Given the description of an element on the screen output the (x, y) to click on. 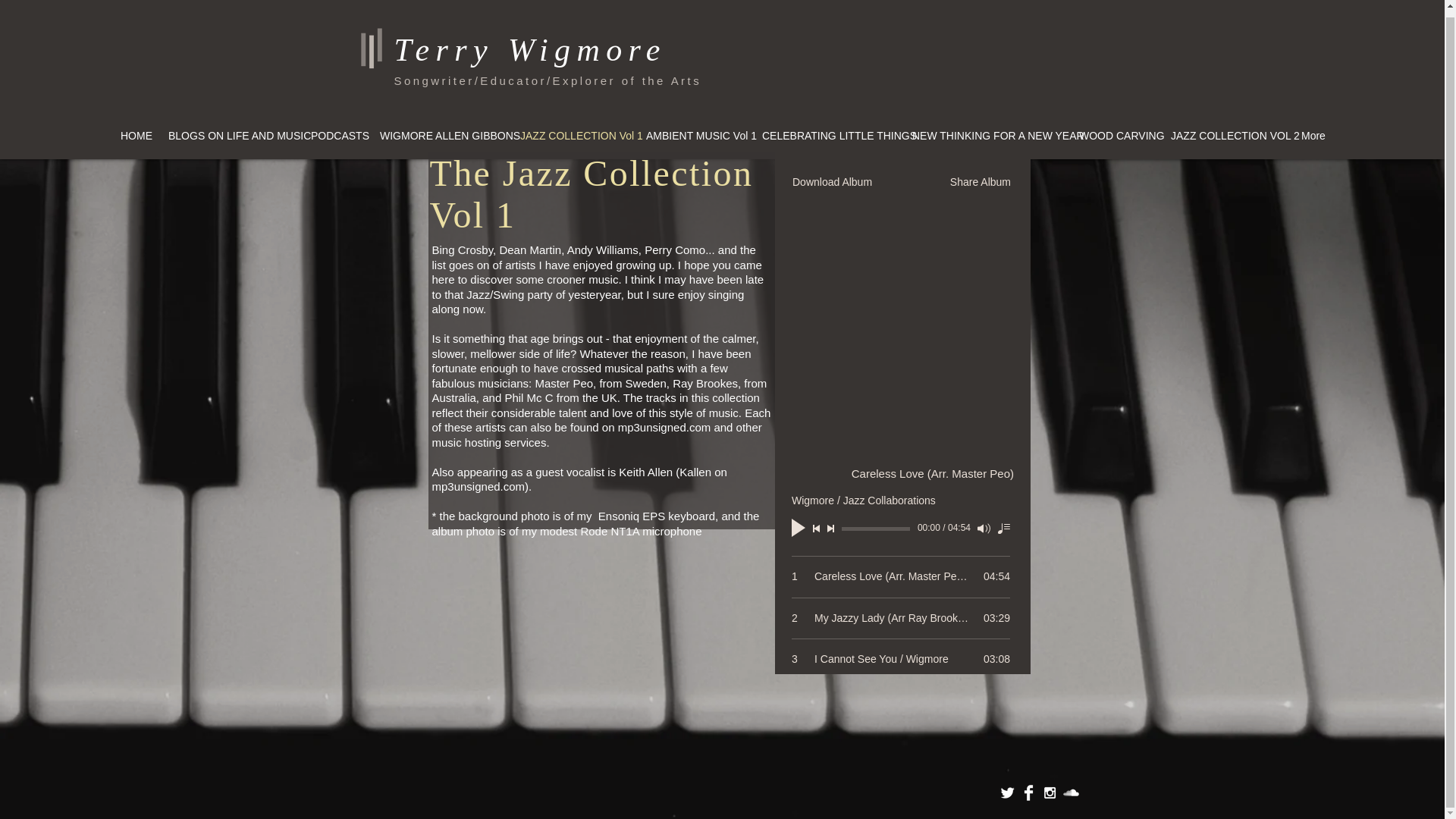
JAZZ COLLECTION VOL 2 (1225, 135)
Terry Wigmore (530, 49)
AMBIENT MUSIC Vol 1 (694, 135)
WIGMORE ALLEN GIBBONS (440, 135)
NEW THINKING FOR A NEW YEAR (985, 135)
JAZZ COLLECTION Vol 1 (573, 135)
CELEBRATING LITTLE THINGS (827, 135)
PODCASTS (335, 135)
WOOD CARVING (1114, 135)
BLOGS ON LIFE AND MUSIC (229, 135)
HOME (134, 135)
